Given the description of an element on the screen output the (x, y) to click on. 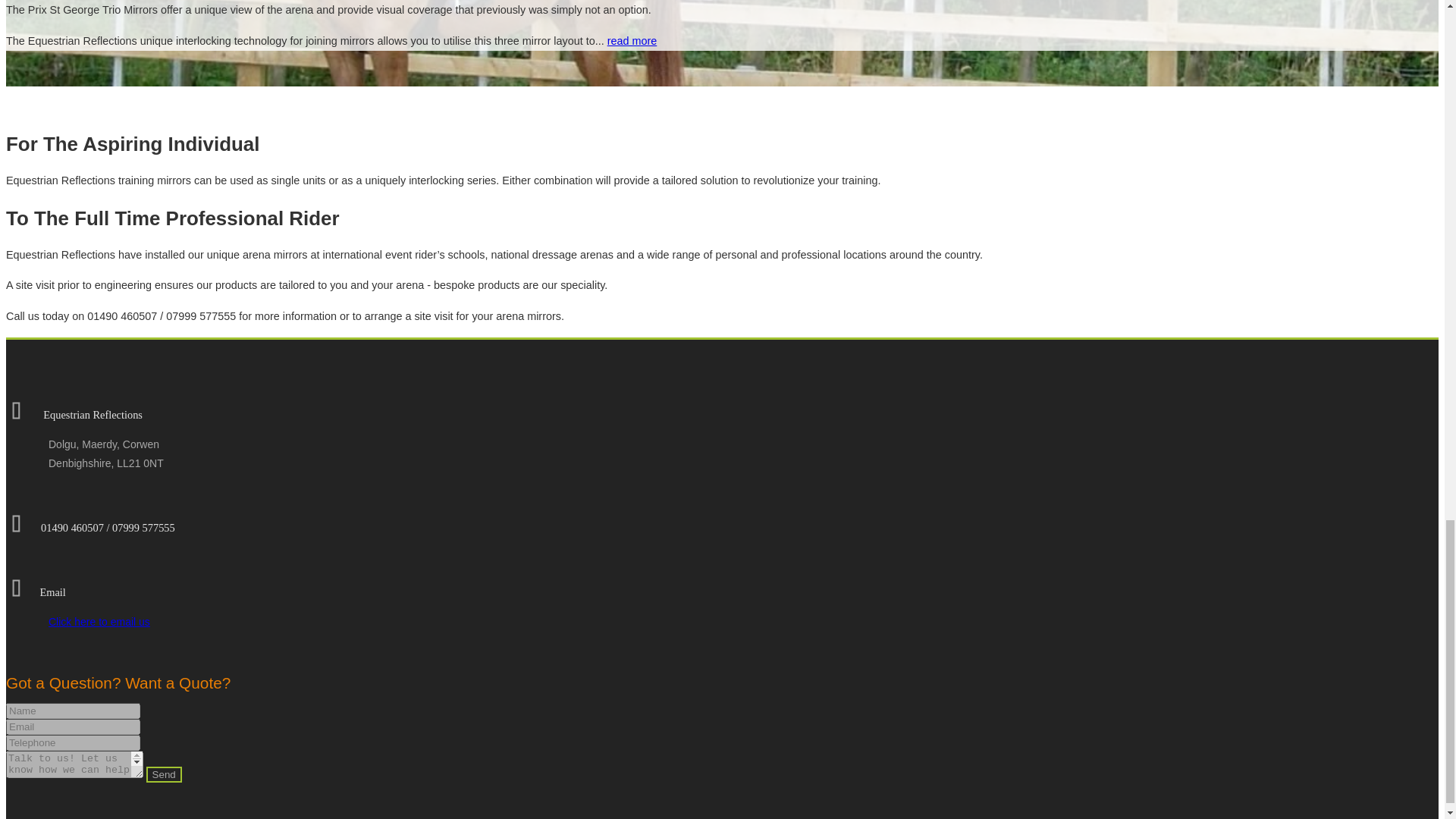
read more (632, 40)
Click here to email us (98, 621)
Send (164, 774)
Send (164, 774)
